Given the description of an element on the screen output the (x, y) to click on. 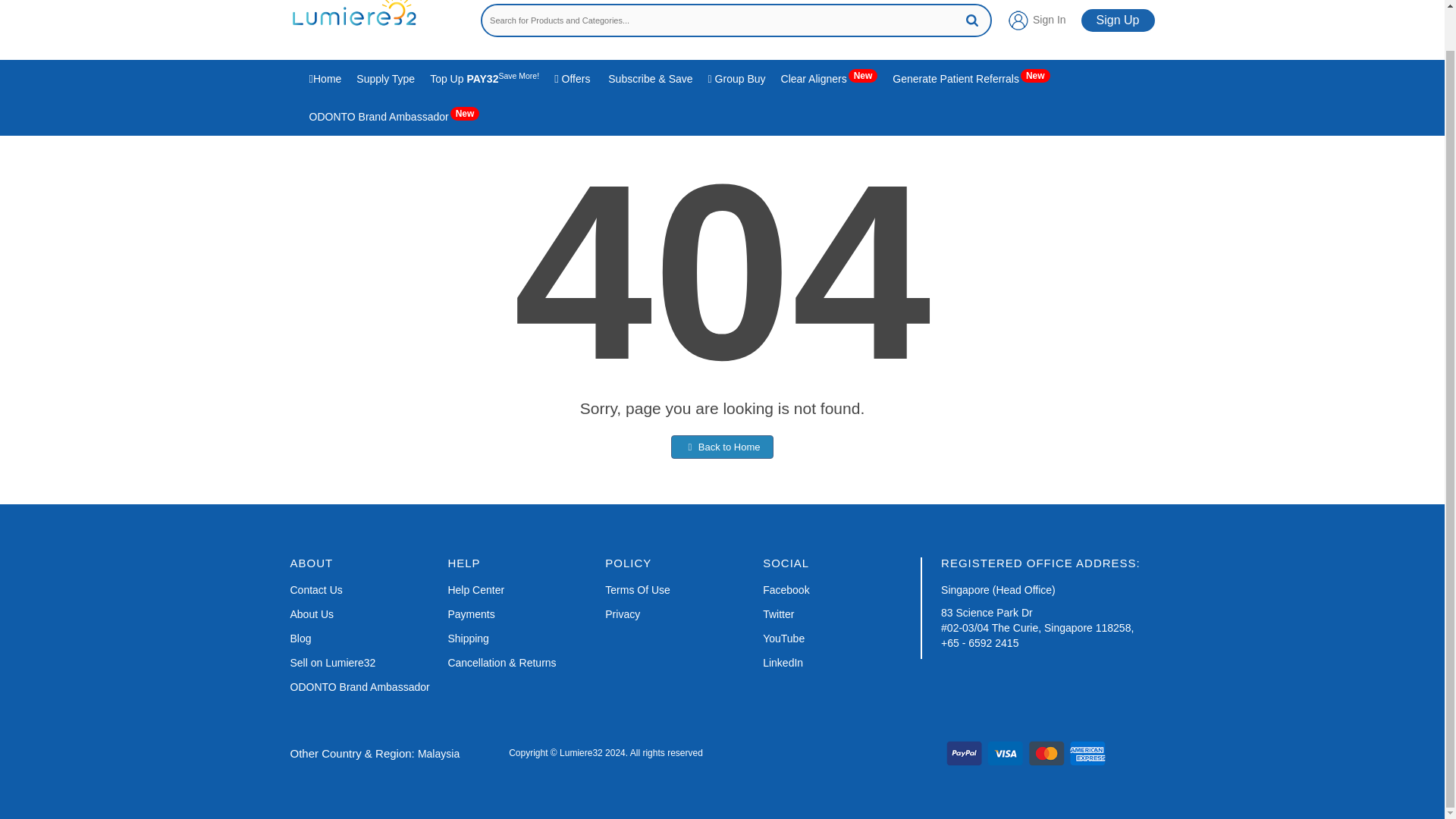
Contact Us (315, 590)
Home (325, 78)
Help Center (474, 590)
Supply Type (385, 78)
About Us (311, 614)
Clear AlignersNew (829, 78)
Back to Home (722, 446)
Top Up PAY32Save More! (484, 78)
Lumiere32 (353, 18)
Sign Up (1117, 20)
 Offers (571, 78)
Sign In (1036, 20)
Payments (470, 614)
Sell on Lumiere32 (332, 663)
ODONTO Brand Ambassador (359, 687)
